Given the description of an element on the screen output the (x, y) to click on. 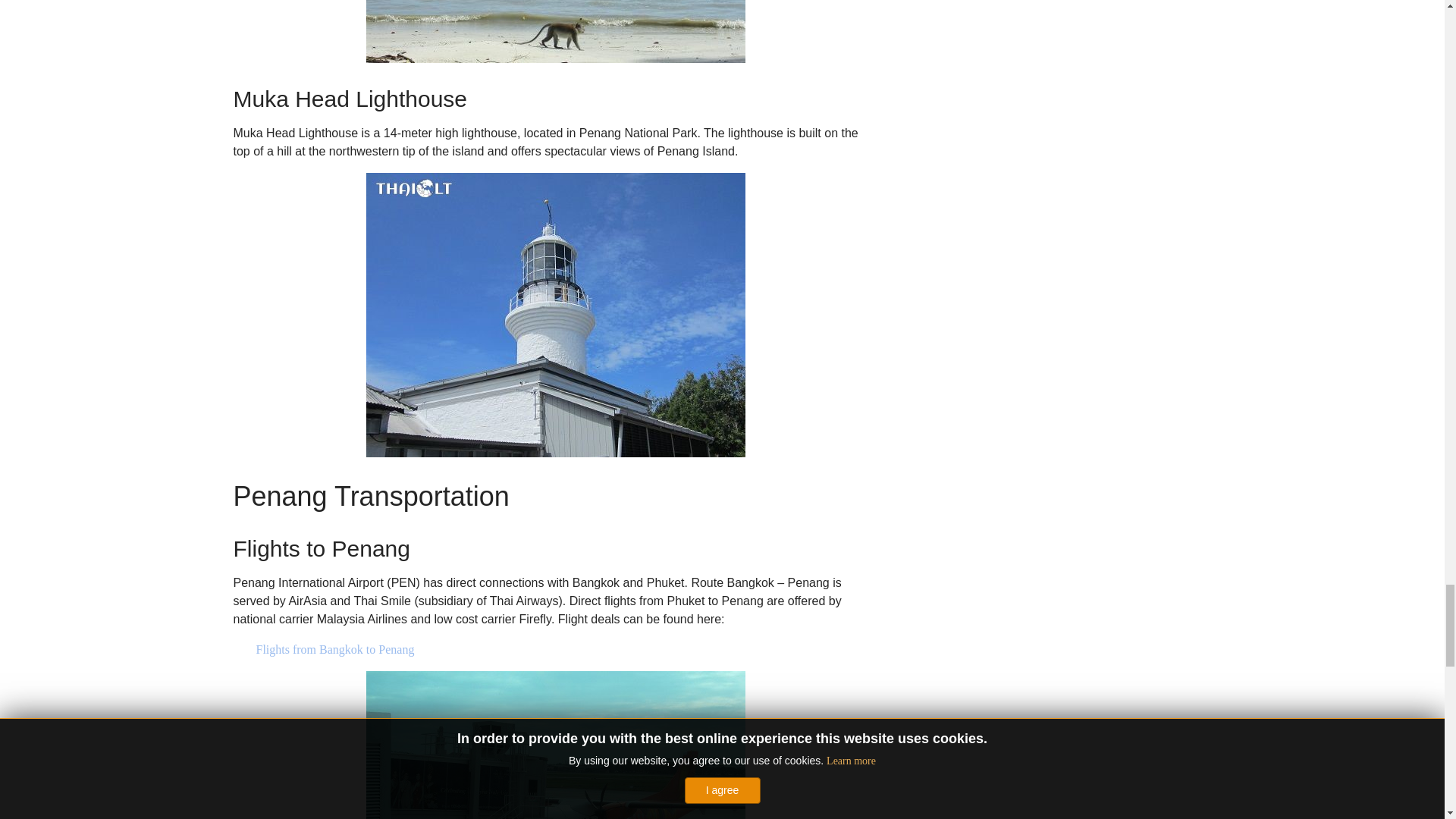
Muka Head Lighthouse (554, 314)
